Given the description of an element on the screen output the (x, y) to click on. 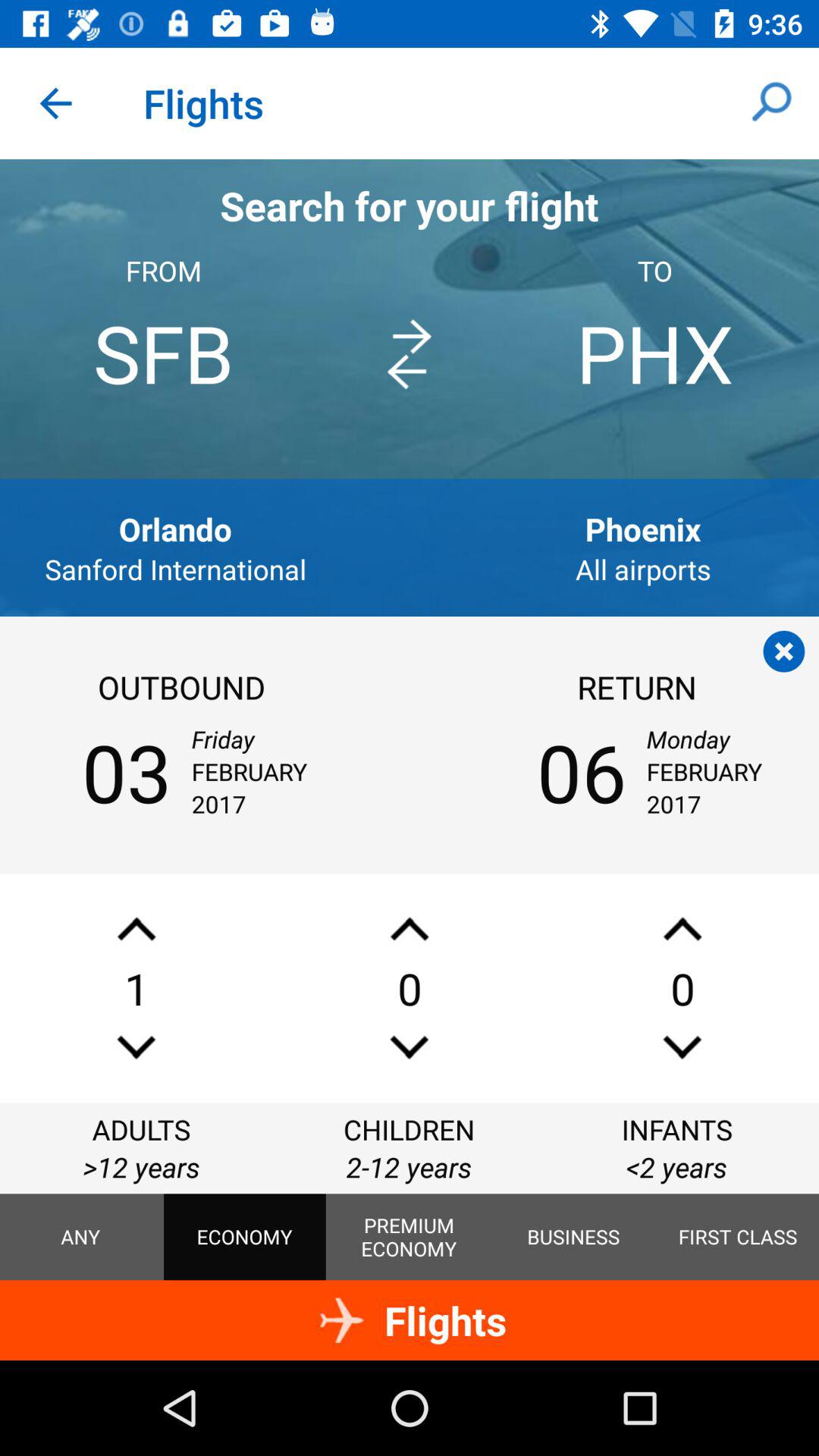
add one child (409, 928)
